Given the description of an element on the screen output the (x, y) to click on. 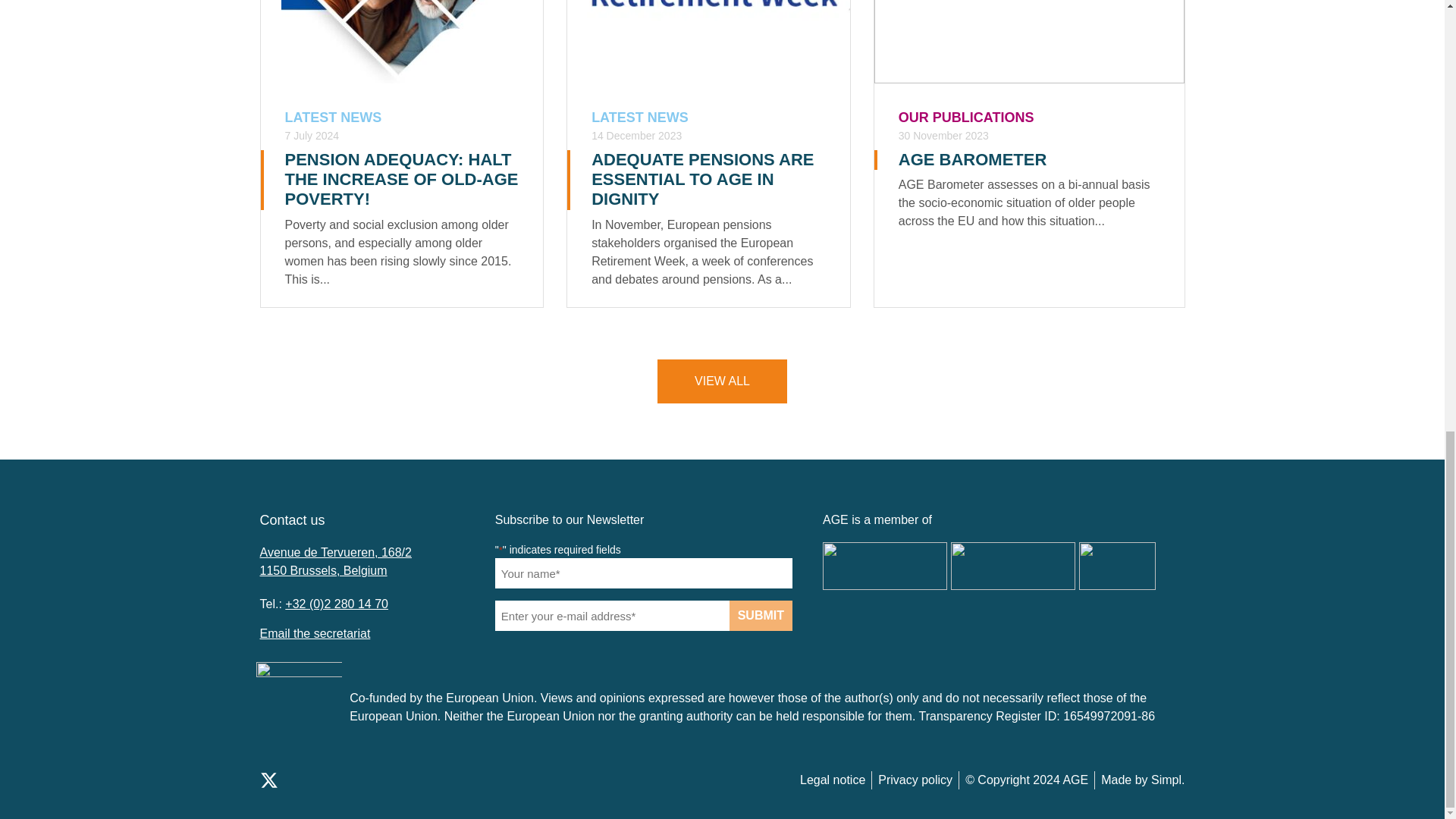
Email the secretariat (314, 633)
PENSION ADEQUACY: HALT THE INCREASE OF OLD-AGE POVERTY! (401, 179)
AGE BAROMETER (972, 158)
Submit (760, 615)
ADEQUATE PENSIONS ARE ESSENTIAL TO AGE IN DIGNITY (702, 179)
VIEW ALL (722, 381)
